Given the description of an element on the screen output the (x, y) to click on. 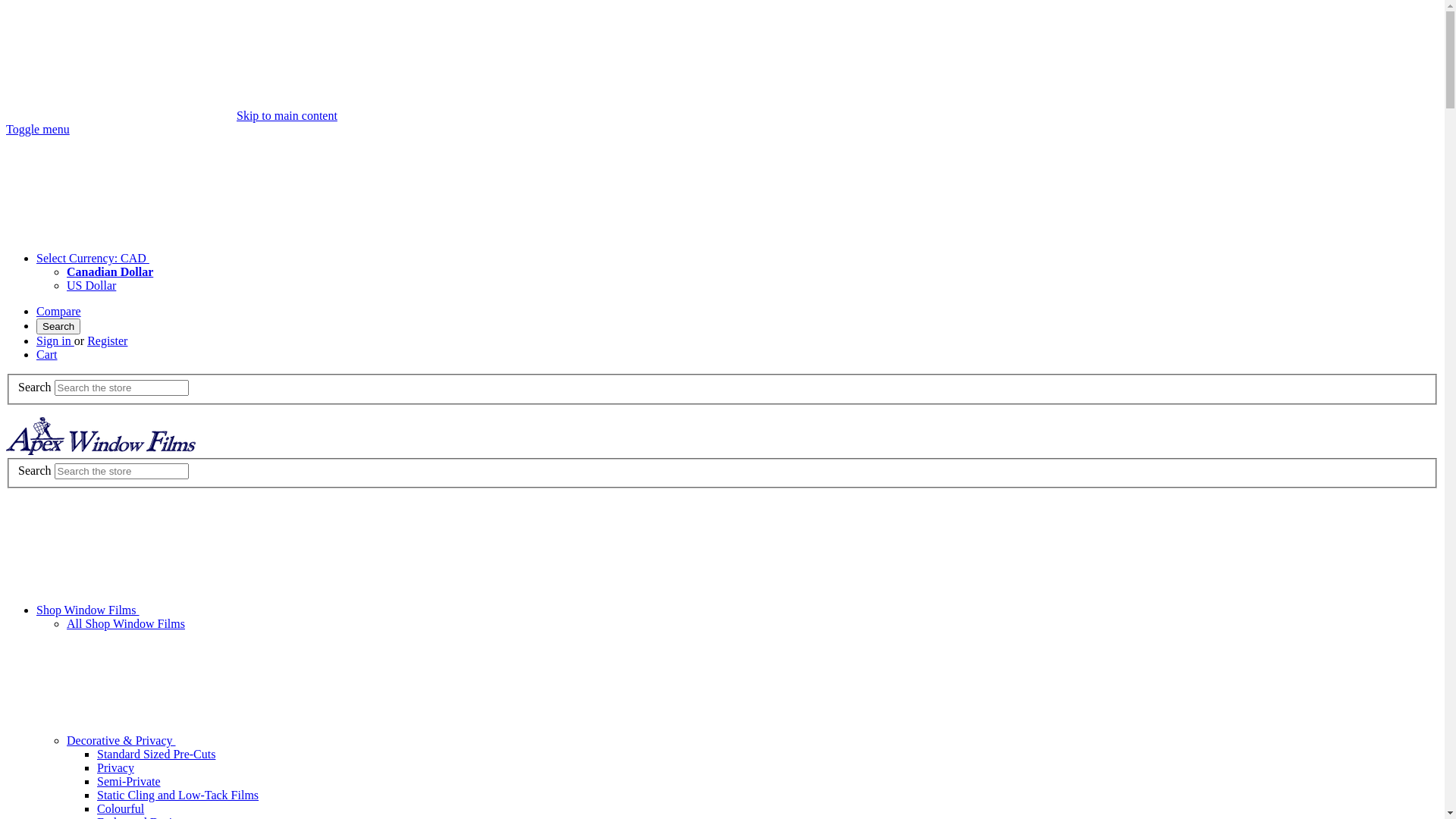
Shop Window Films Element type: text (201, 609)
Static Cling and Low-Tack Films Element type: text (177, 794)
Sign in Element type: text (55, 340)
Search Element type: text (58, 326)
Apex Window Films Element type: hover (100, 436)
US Dollar Element type: text (91, 285)
Toggle menu Element type: text (37, 128)
Register Element type: text (107, 340)
Cart Element type: text (46, 354)
Standard Sized Pre-Cuts Element type: text (156, 753)
All Shop Window Films Element type: text (125, 623)
Semi-Private Element type: text (128, 781)
Canadian Dollar Element type: text (109, 271)
Skip to main content Element type: text (286, 115)
Privacy Element type: text (115, 767)
Select Currency: CAD Element type: text (206, 257)
Compare Element type: text (58, 310)
Decorative & Privacy Element type: text (234, 740)
Colourful Element type: text (120, 808)
